Given the description of an element on the screen output the (x, y) to click on. 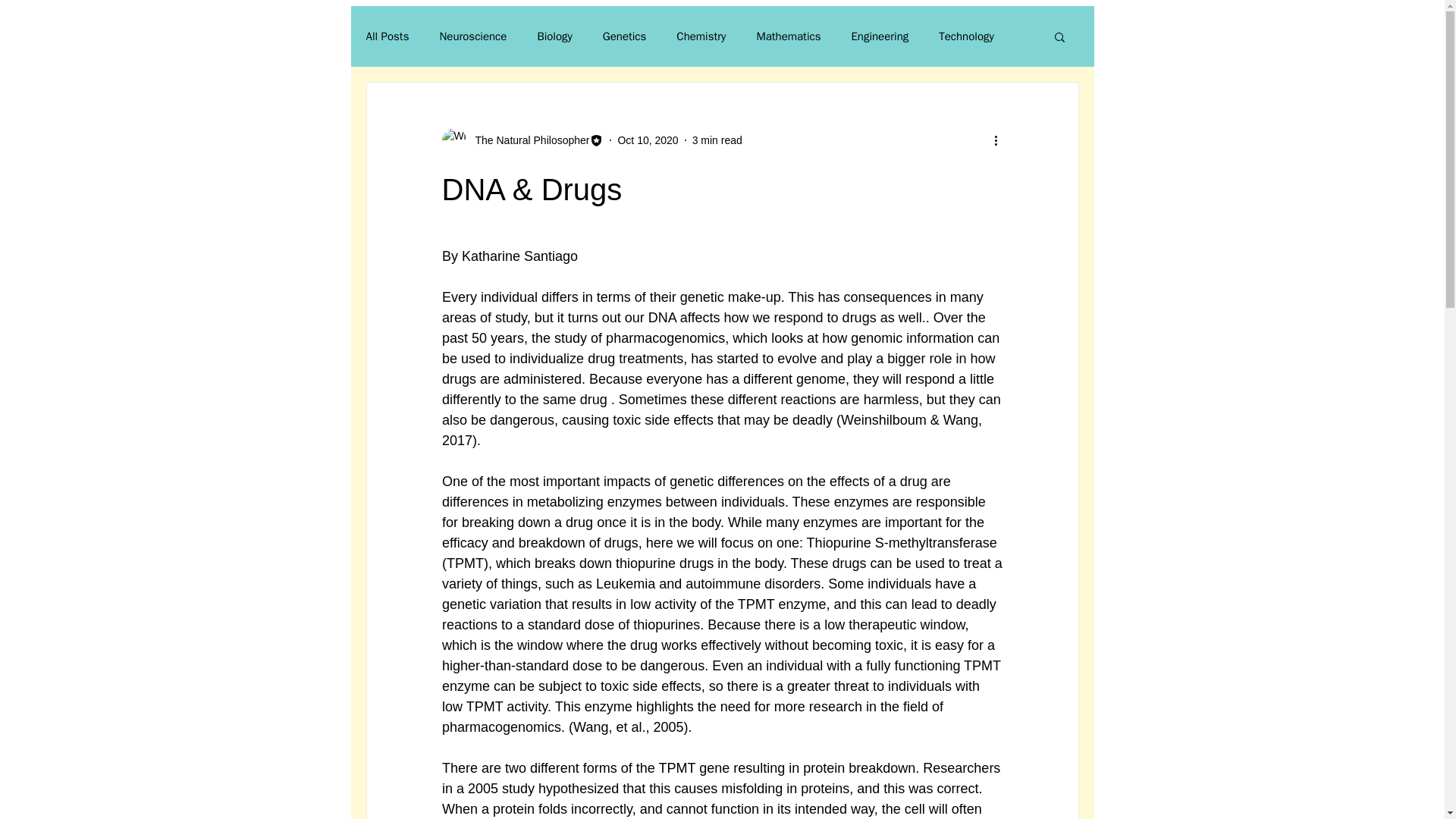
All Posts (387, 35)
Oct 10, 2020 (647, 139)
The Natural Philosopher  (527, 139)
Biology (554, 35)
Neuroscience (472, 35)
3 min read (717, 139)
Chemistry (701, 35)
Engineering (879, 35)
Technology (966, 35)
The Natural Philosopher (522, 139)
Genetics (624, 35)
Mathematics (788, 35)
